Given the description of an element on the screen output the (x, y) to click on. 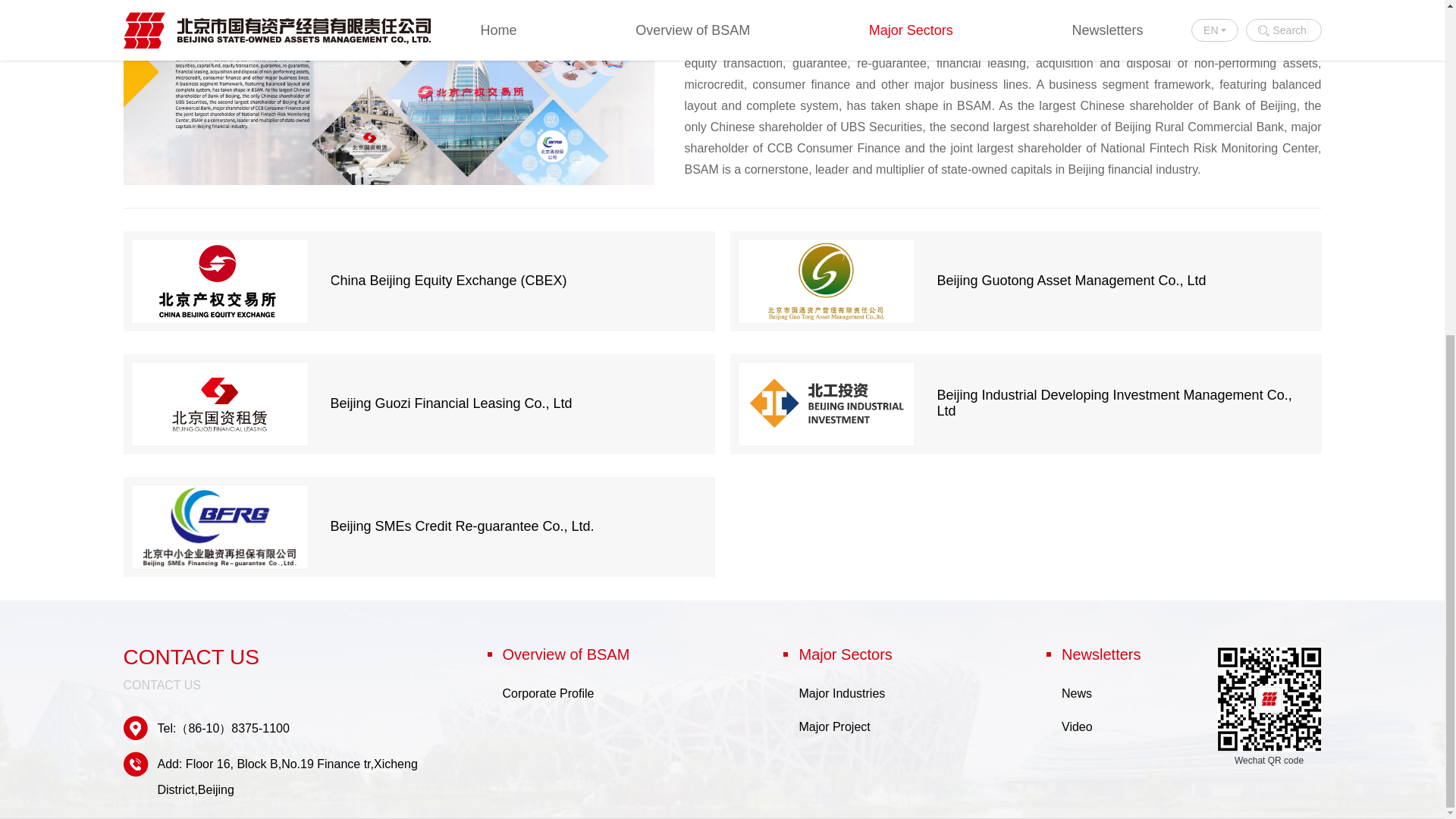
Beijing Guozi Financial Leasing Co., Ltd (425, 403)
Beijing SMEs Credit Re-guarantee Co., Ltd. (425, 526)
Beijing Industrial Developing Investment Management Co., Ltd (1032, 403)
Beijing Guotong Asset Management Co., Ltd (1032, 280)
